Given the description of an element on the screen output the (x, y) to click on. 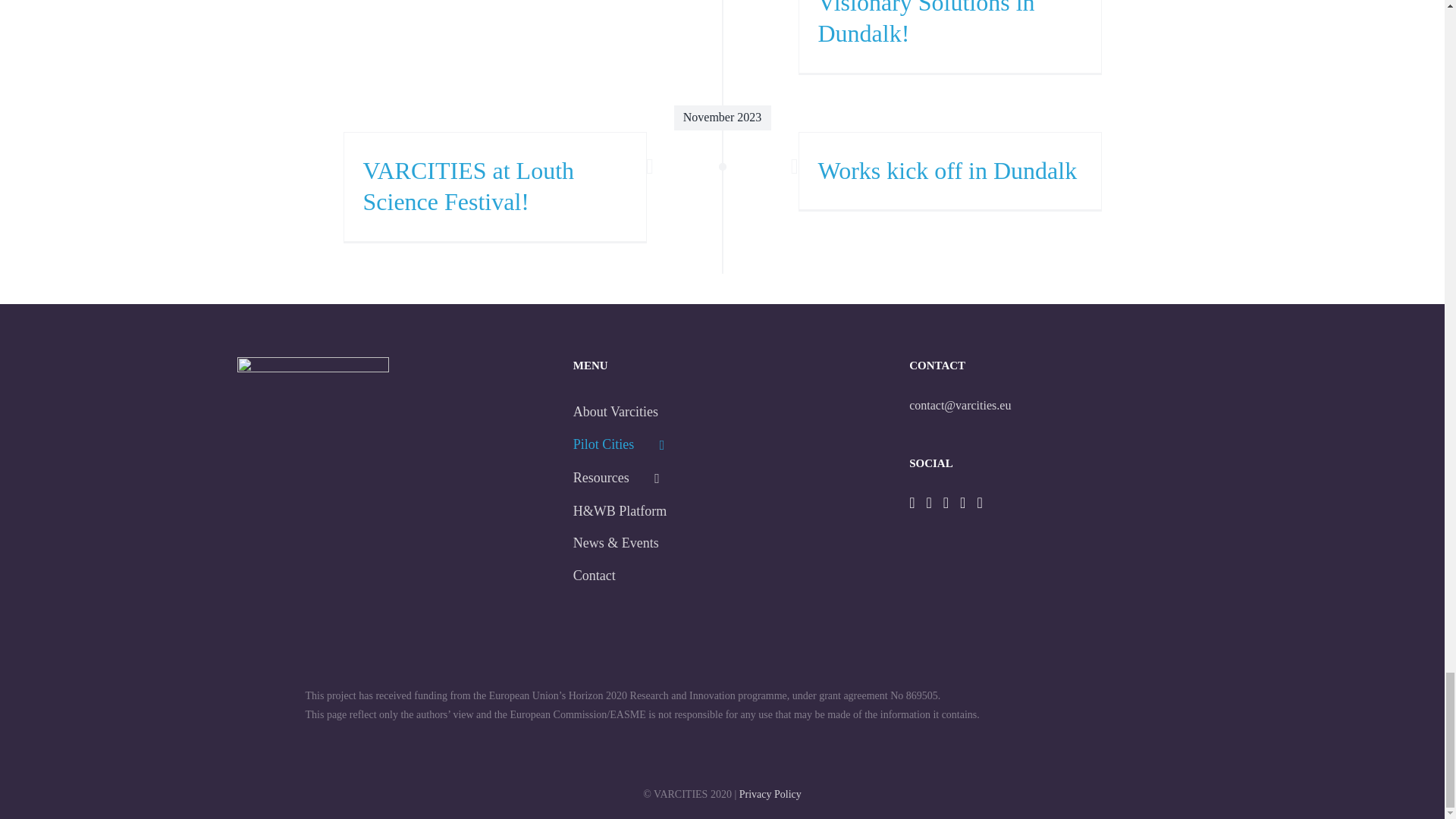
Instagram (946, 502)
Facebook (911, 502)
Works kick off in Dundalk (946, 170)
About Varcities (721, 411)
VARCITIES at Louth Science Festival! (467, 186)
YouTube (962, 502)
LinkedIn (978, 502)
Twitter (928, 502)
